Given the description of an element on the screen output the (x, y) to click on. 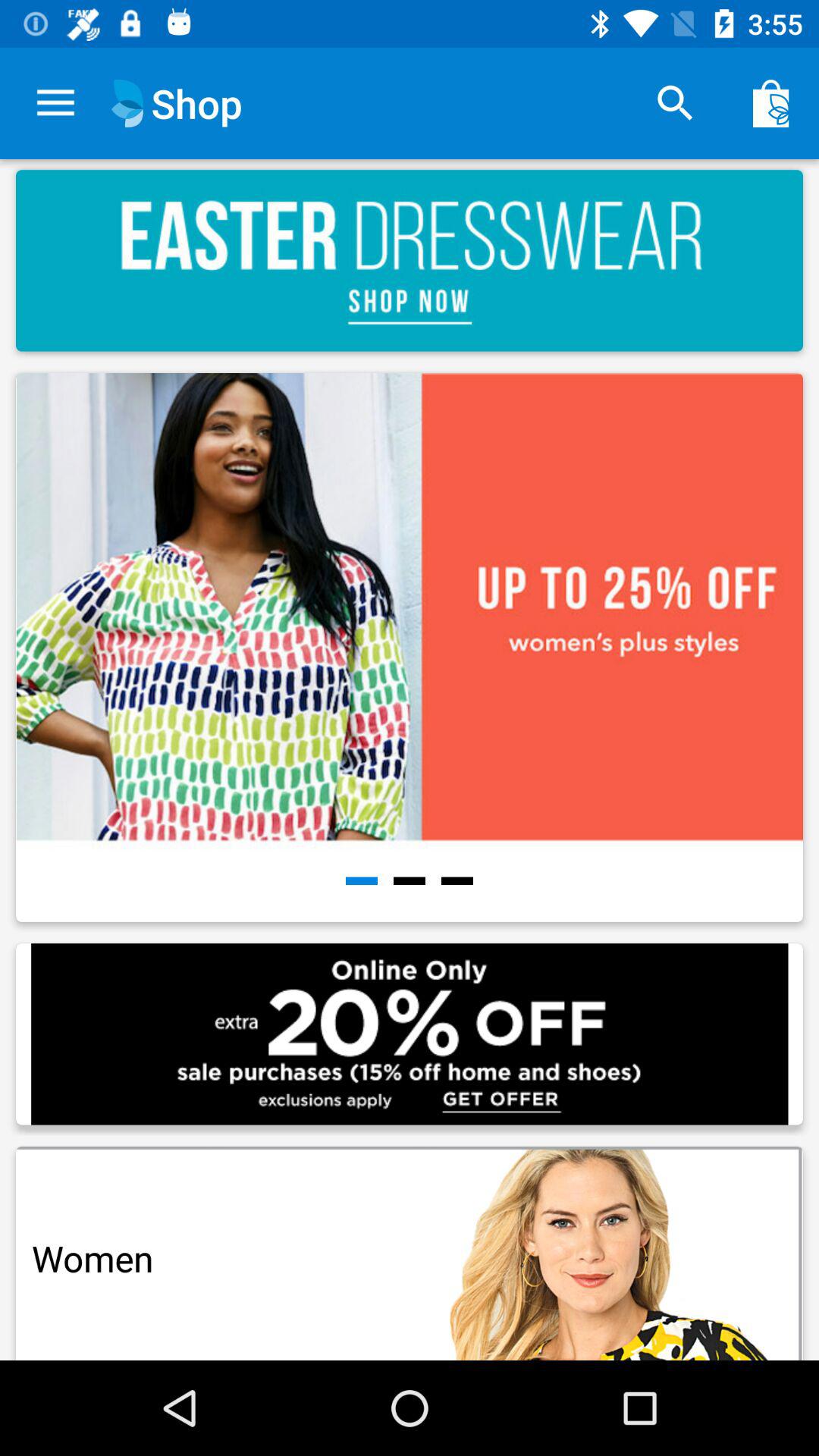
select the picture (413, 652)
select the second image (409, 647)
click on the first image (409, 647)
select the 1st image completely (413, 652)
select the search bar icon (675, 103)
select 20 off at the bottom (409, 1034)
select the last image along with the text (409, 1247)
select the icon to the right of search bar (771, 103)
go to the icon which is just beside the shop (127, 103)
select the image which is under shop (409, 260)
